Given the description of an element on the screen output the (x, y) to click on. 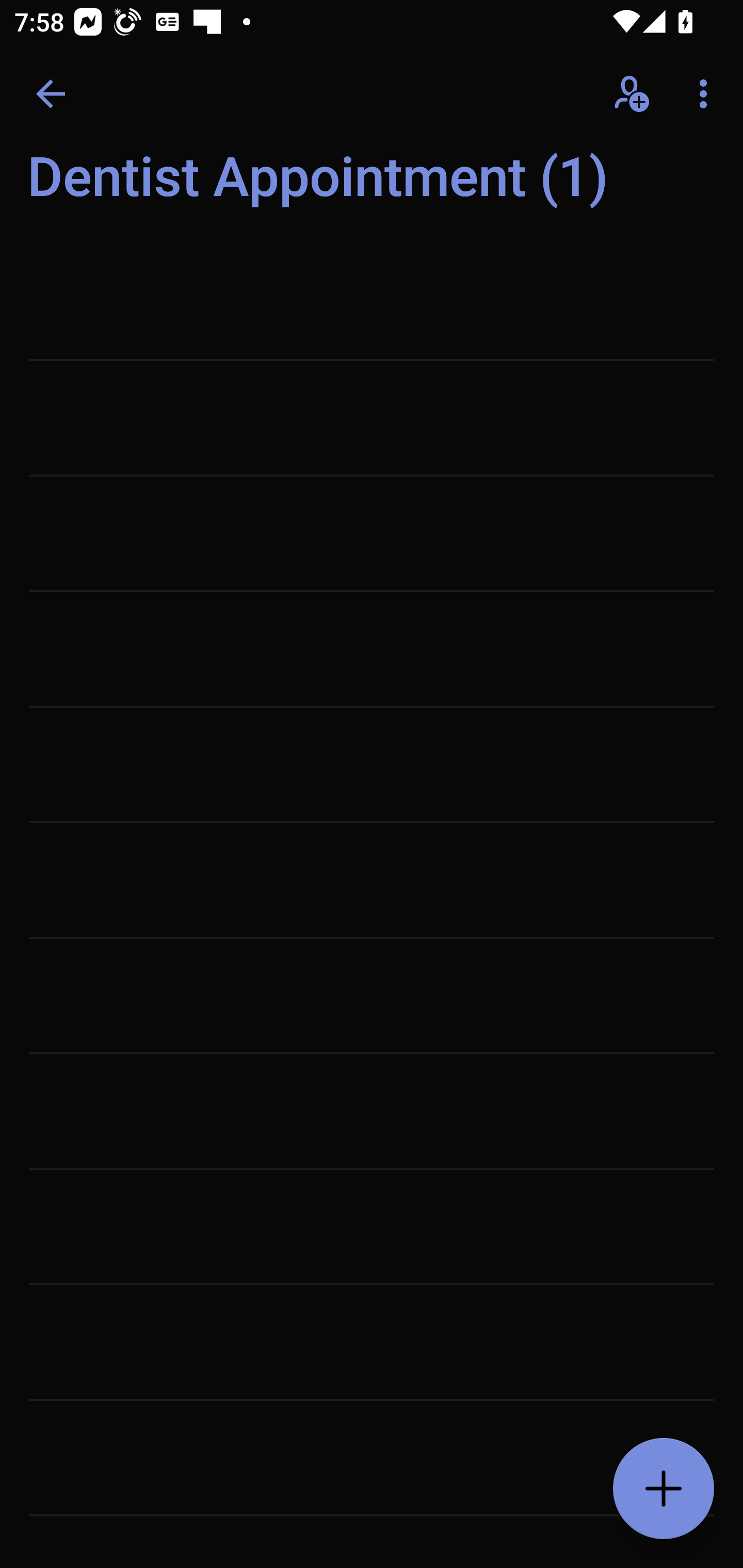
Back (50, 93)
Share list (632, 93)
More options (706, 93)
Add a task (663, 1488)
